Given the description of an element on the screen output the (x, y) to click on. 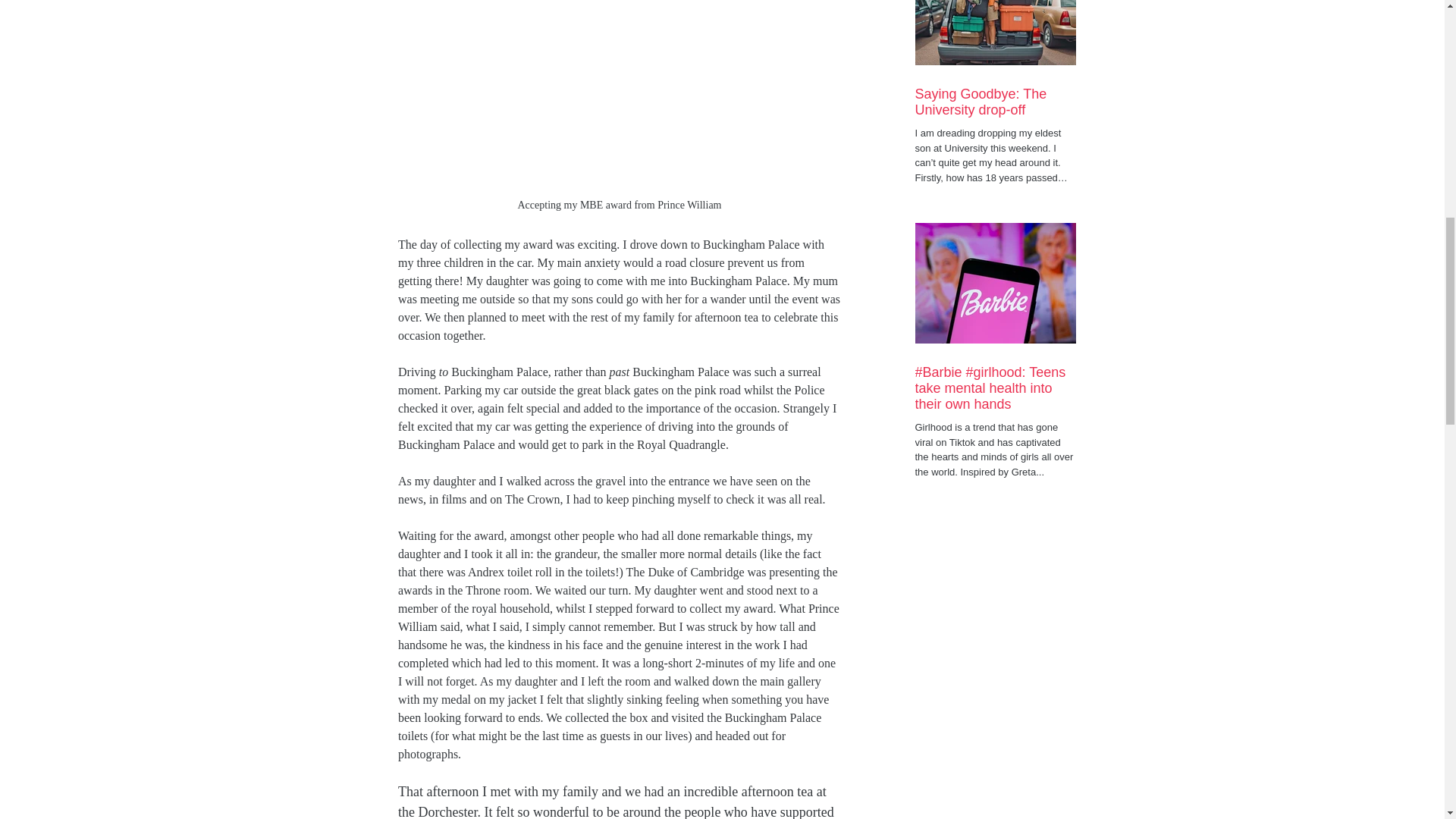
Saying Goodbye: The University drop-off (994, 101)
